Given the description of an element on the screen output the (x, y) to click on. 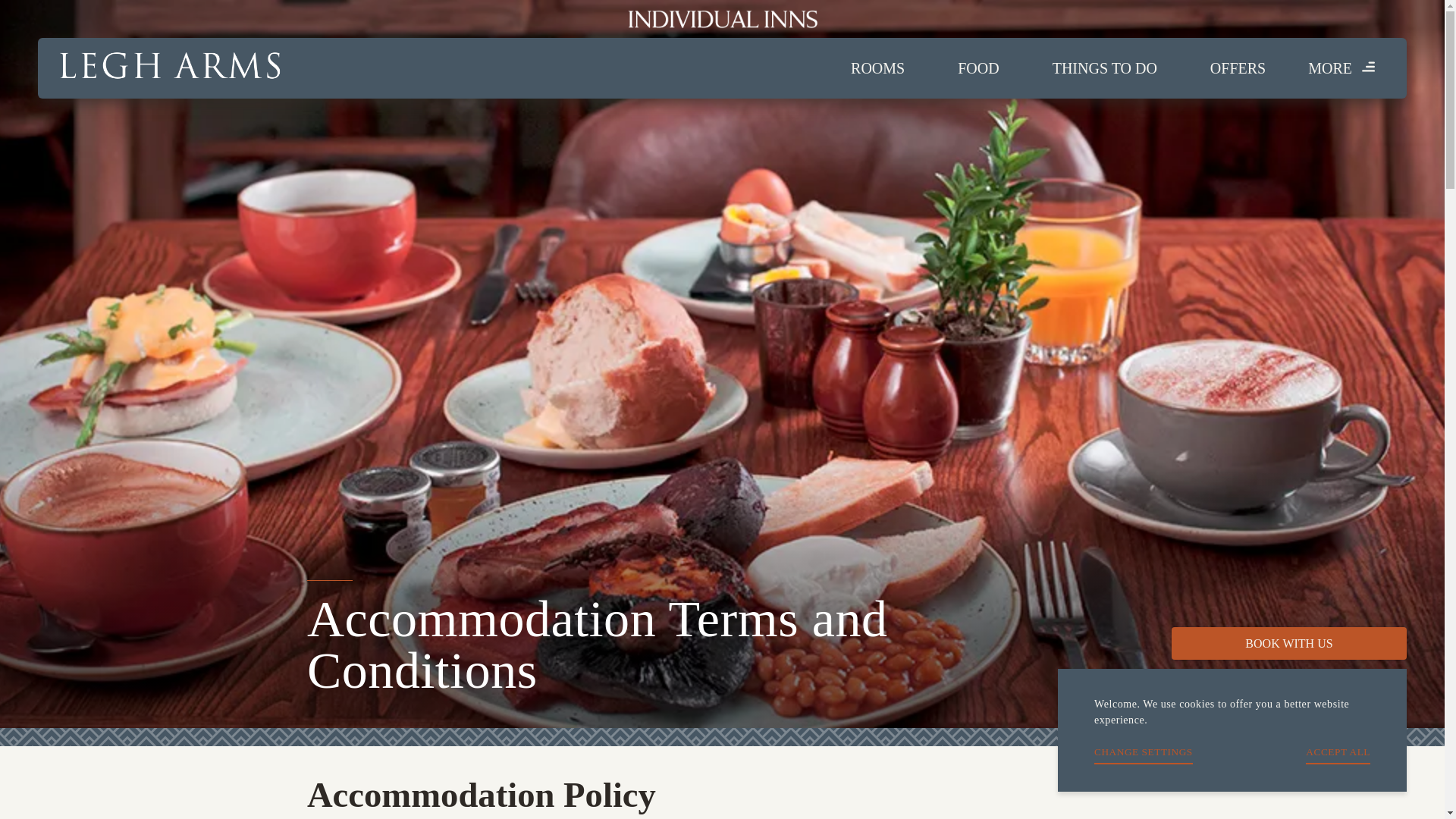
ACCEPT ALL (1338, 755)
FOOD (978, 68)
THINGS TO DO (1104, 68)
MORE (1342, 68)
OFFERS (1237, 68)
ROOMS (877, 68)
CHANGE SETTINGS (1143, 755)
BOOK WITH US (1289, 643)
